Given the description of an element on the screen output the (x, y) to click on. 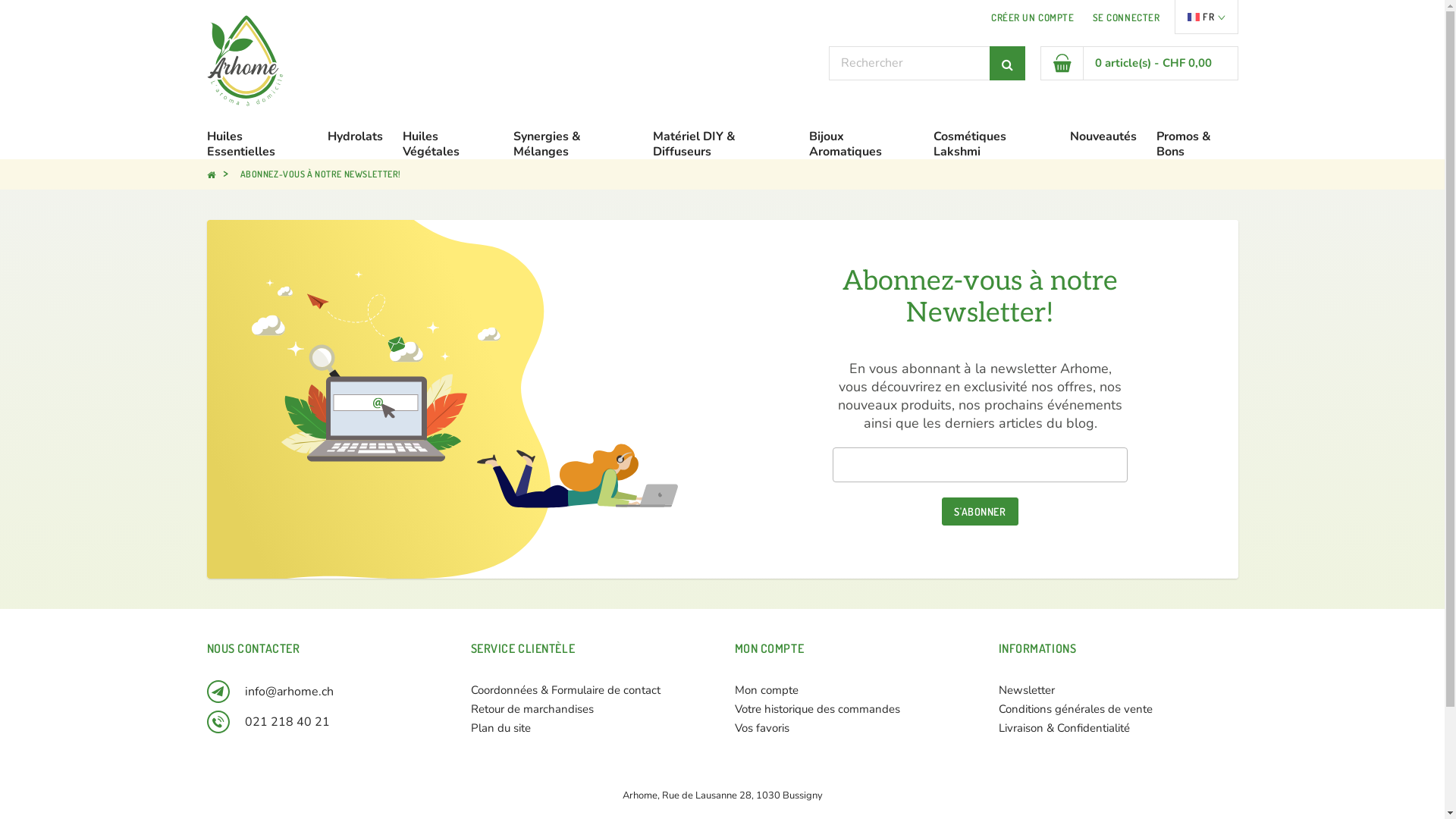
Mon compte Element type: text (765, 689)
Votre historique des commandes Element type: text (816, 708)
Bijoux Aromatiques Element type: text (861, 143)
Vos favoris Element type: text (761, 727)
Hydrolats Element type: text (354, 136)
0 article(s) - CHF 0,00 Element type: text (1139, 63)
Plan du site Element type: text (500, 727)
FR Element type: text (1205, 17)
Huiles Essentielles Element type: text (256, 143)
S'abonner Element type: text (979, 511)
SE CONNECTER Element type: text (1126, 17)
Retour de marchandises Element type: text (531, 708)
Newsletter Element type: text (1025, 689)
Promos & Bons Element type: text (1196, 143)
